Given the description of an element on the screen output the (x, y) to click on. 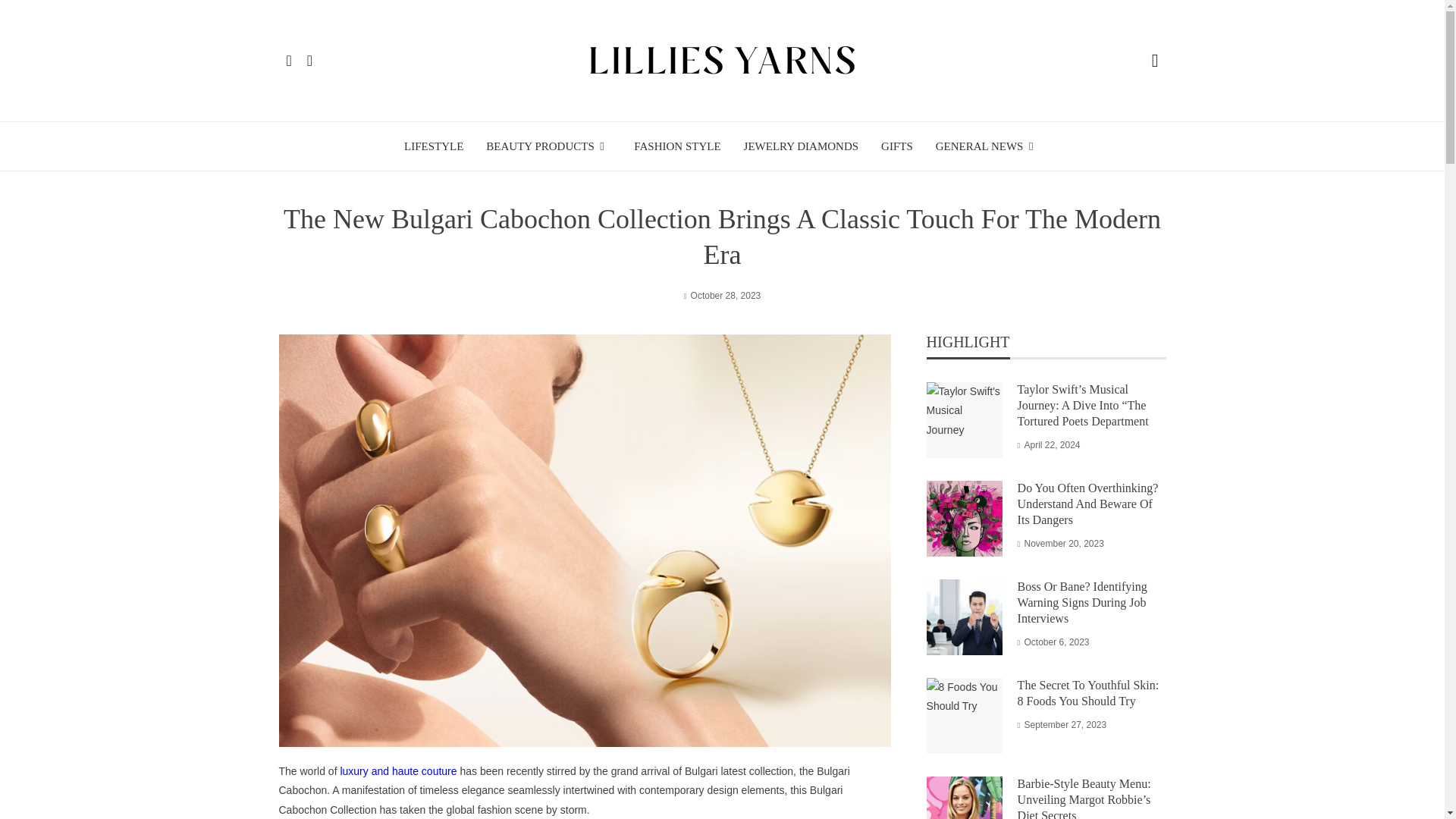
luxury and haute couture (397, 770)
BEAUTY PRODUCTS (548, 146)
8 Foods You Should Try (964, 715)
Taylor Swift's Musical Journey (964, 419)
The Secret To Youthful Skin: 8 Foods You Should Try (1087, 692)
LIFESTYLE (433, 146)
GIFTS (896, 146)
GENERAL NEWS (988, 146)
FASHION STYLE (676, 146)
JEWELRY DIAMONDS (801, 146)
